Given the description of an element on the screen output the (x, y) to click on. 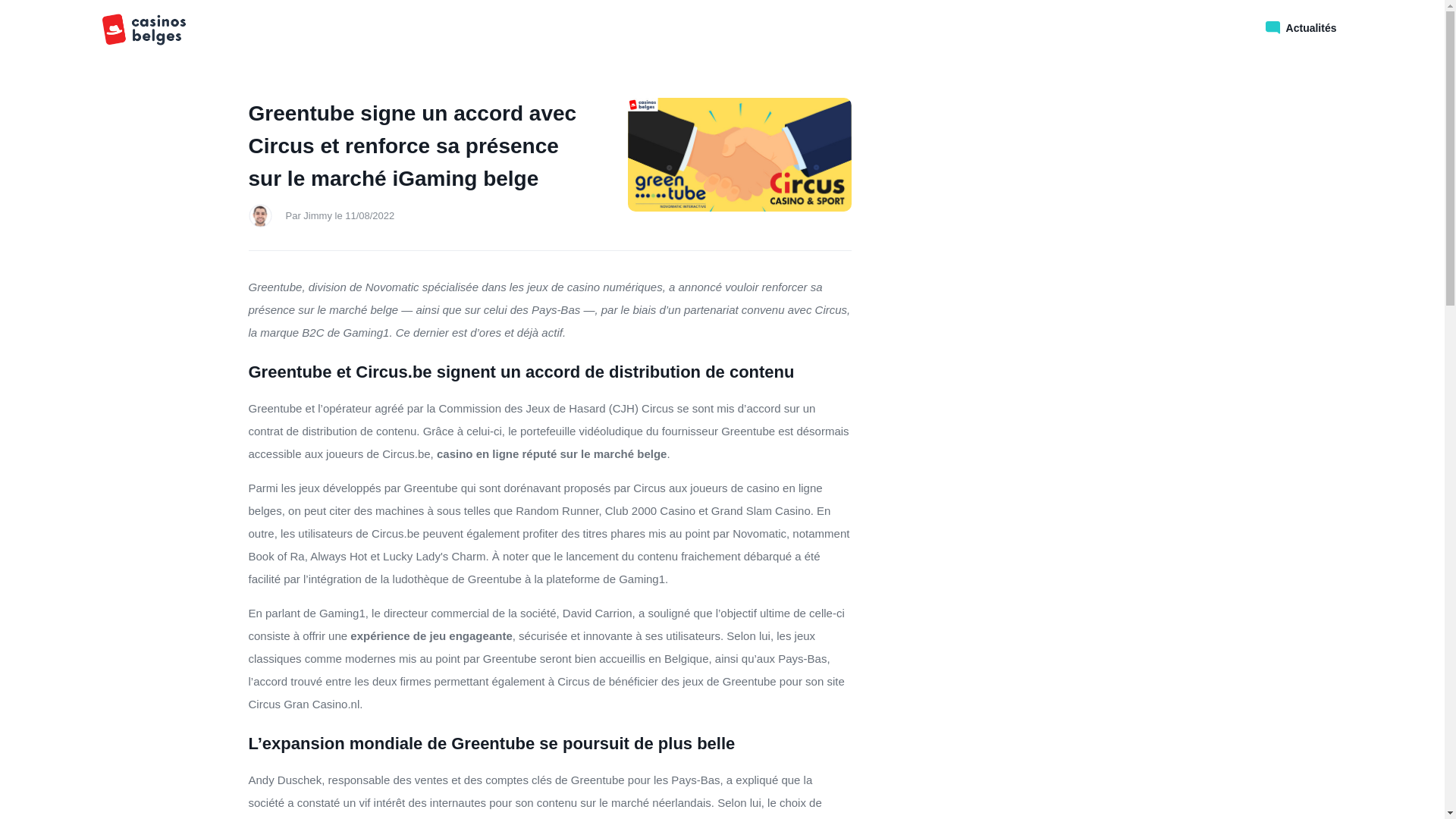
Par Jimmy le 11/08/2022 Element type: text (339, 215)
comparateur bonus casino en ligne Element type: hover (156, 28)
